Given the description of an element on the screen output the (x, y) to click on. 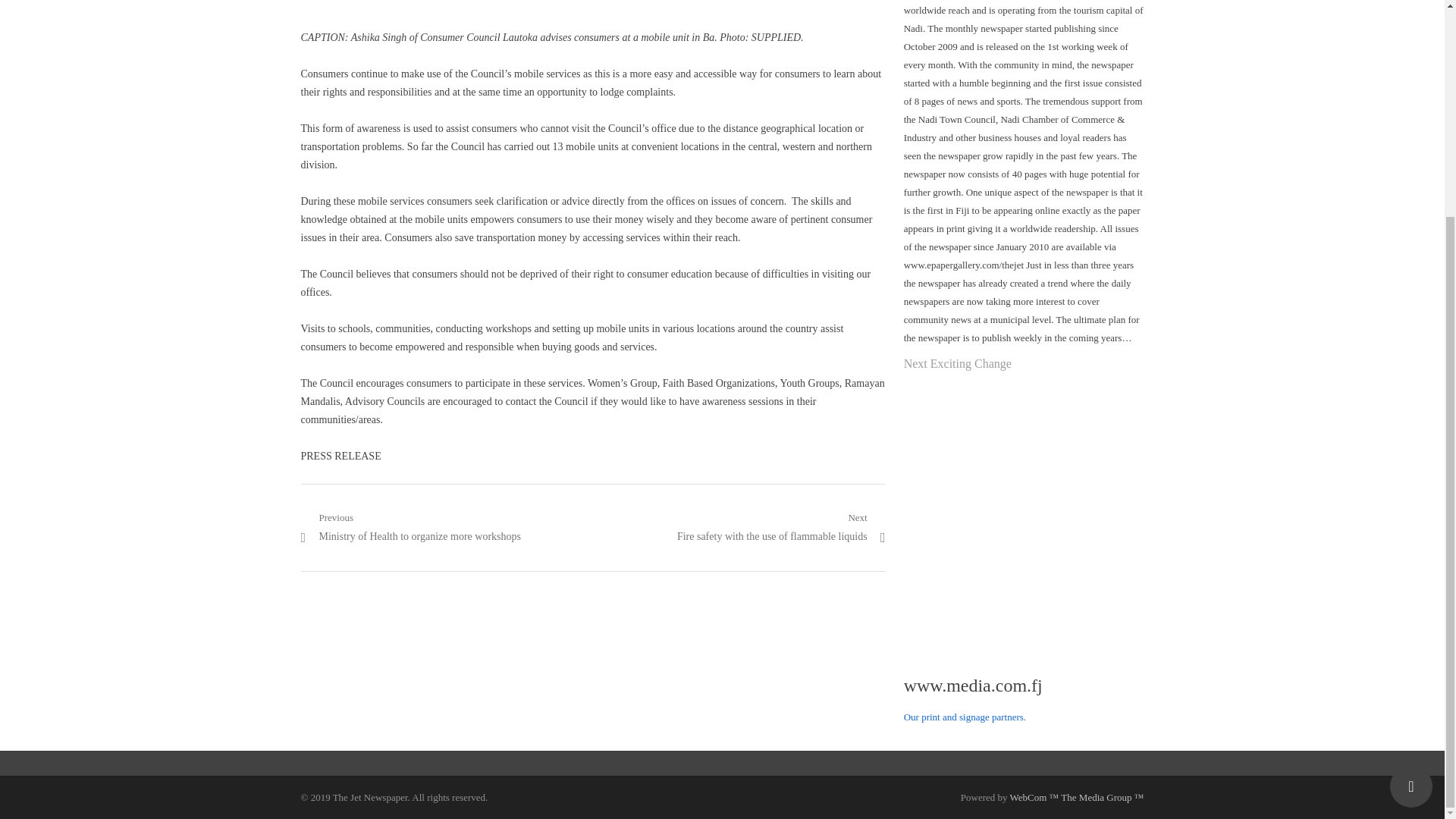
www.media.com.fj (973, 685)
Scroll to top (1411, 500)
scroll to top (1411, 500)
